Given the description of an element on the screen output the (x, y) to click on. 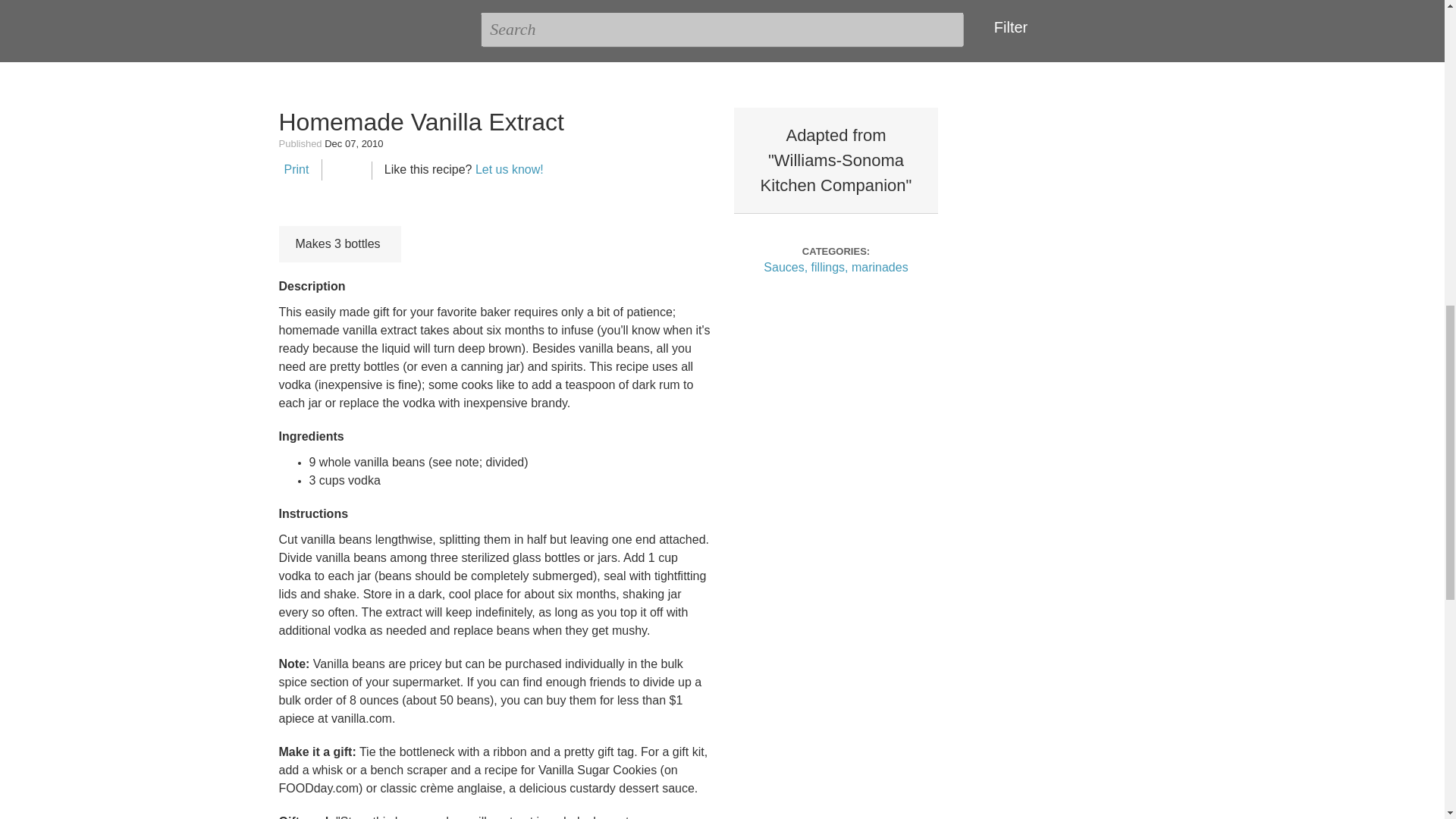
Sauces, fillings, marinades (834, 267)
Let us know! (509, 169)
Print (294, 169)
Filter (1007, 27)
